Given the description of an element on the screen output the (x, y) to click on. 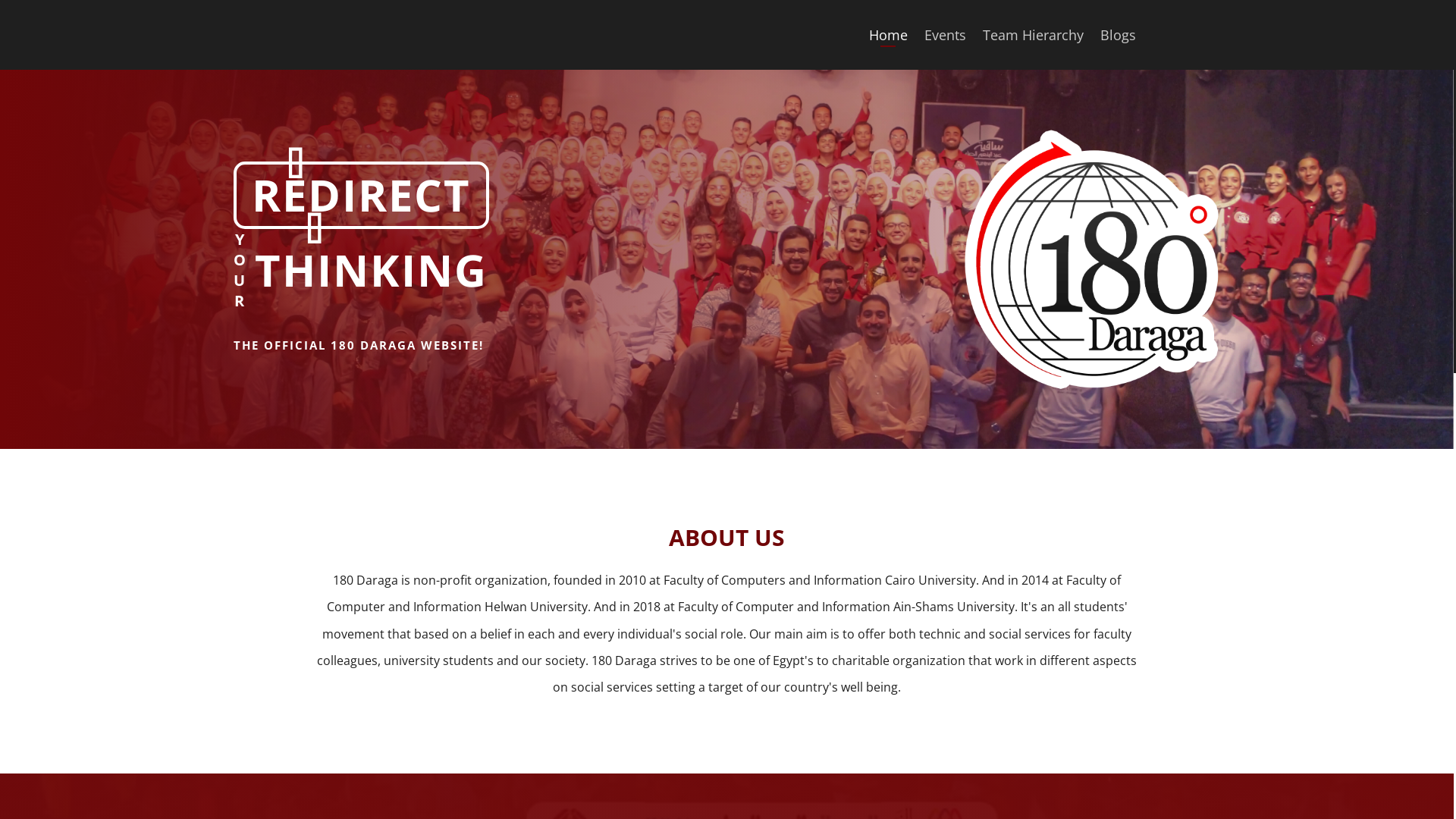
Blogs Element type: text (1117, 34)
Team Hierarchy Element type: text (1032, 34)
Home Element type: text (887, 34)
Events Element type: text (944, 34)
